Given the description of an element on the screen output the (x, y) to click on. 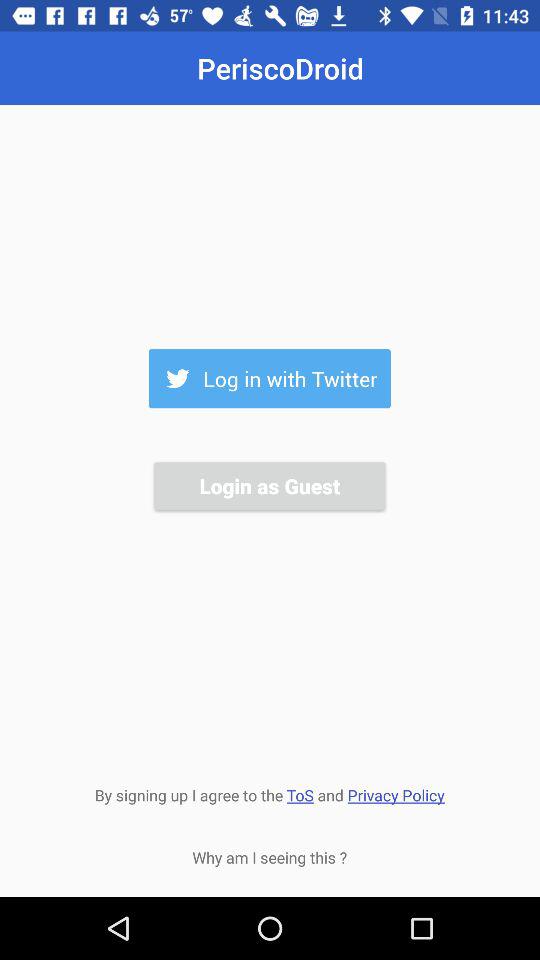
tap icon below by signing up (269, 857)
